Given the description of an element on the screen output the (x, y) to click on. 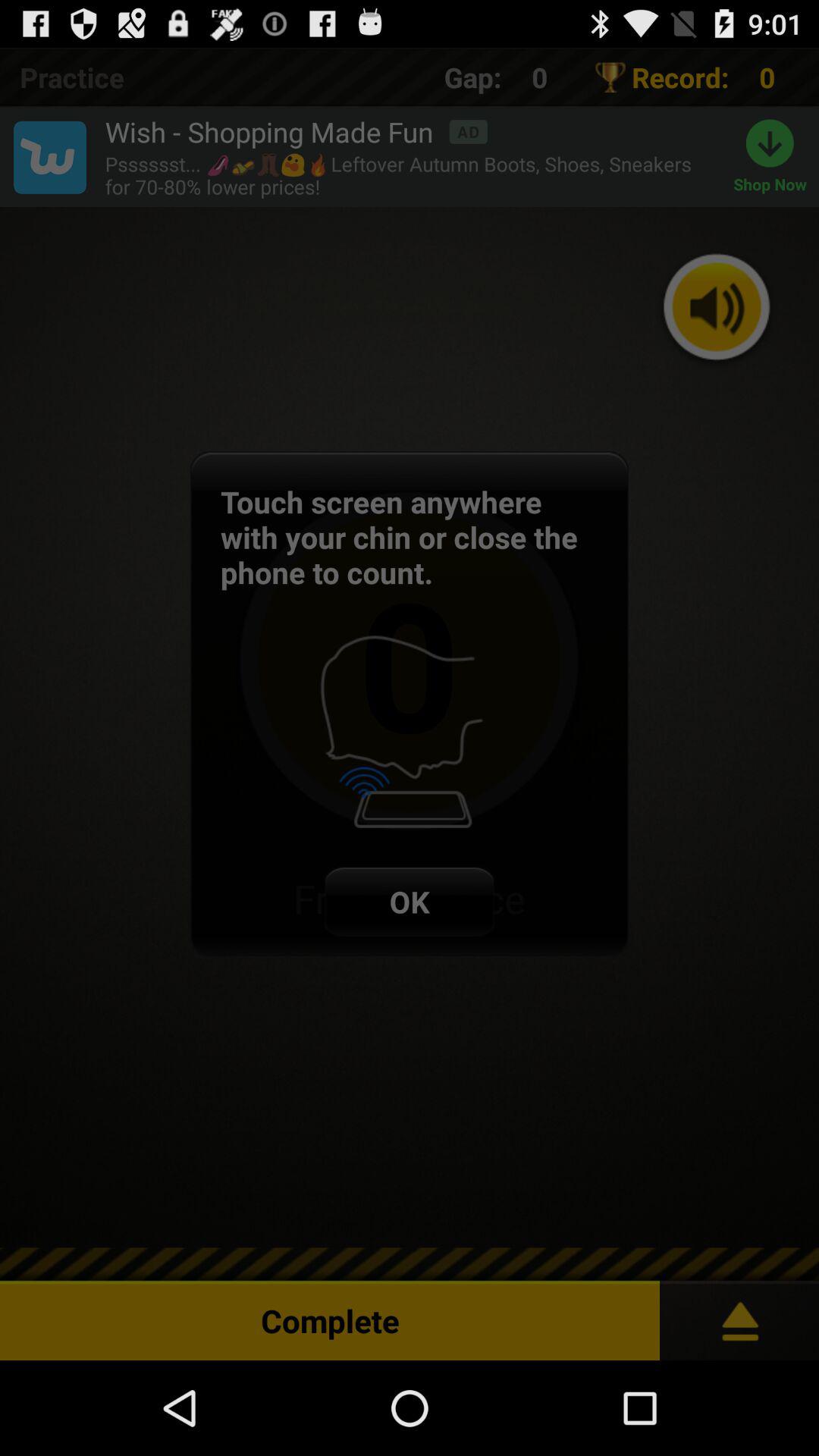
press the ok item (409, 901)
